Given the description of an element on the screen output the (x, y) to click on. 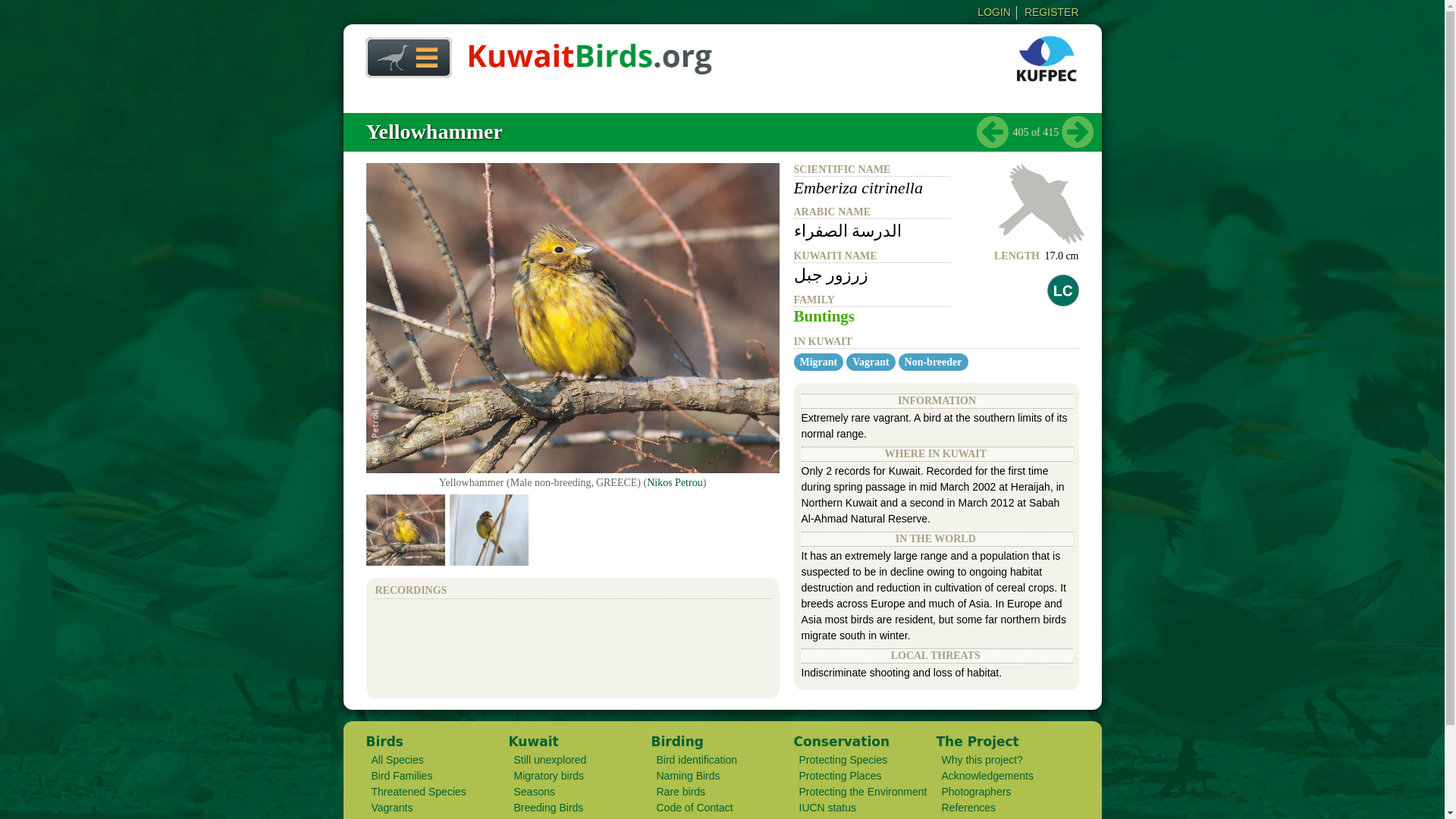
REGISTER (1051, 11)
Skip to main content (691, 1)
LOGIN (993, 11)
Yellowhammer (433, 131)
Nikos Petrou (674, 482)
KuwaitBirds.org (589, 69)
Least Concern (1062, 290)
